Given the description of an element on the screen output the (x, y) to click on. 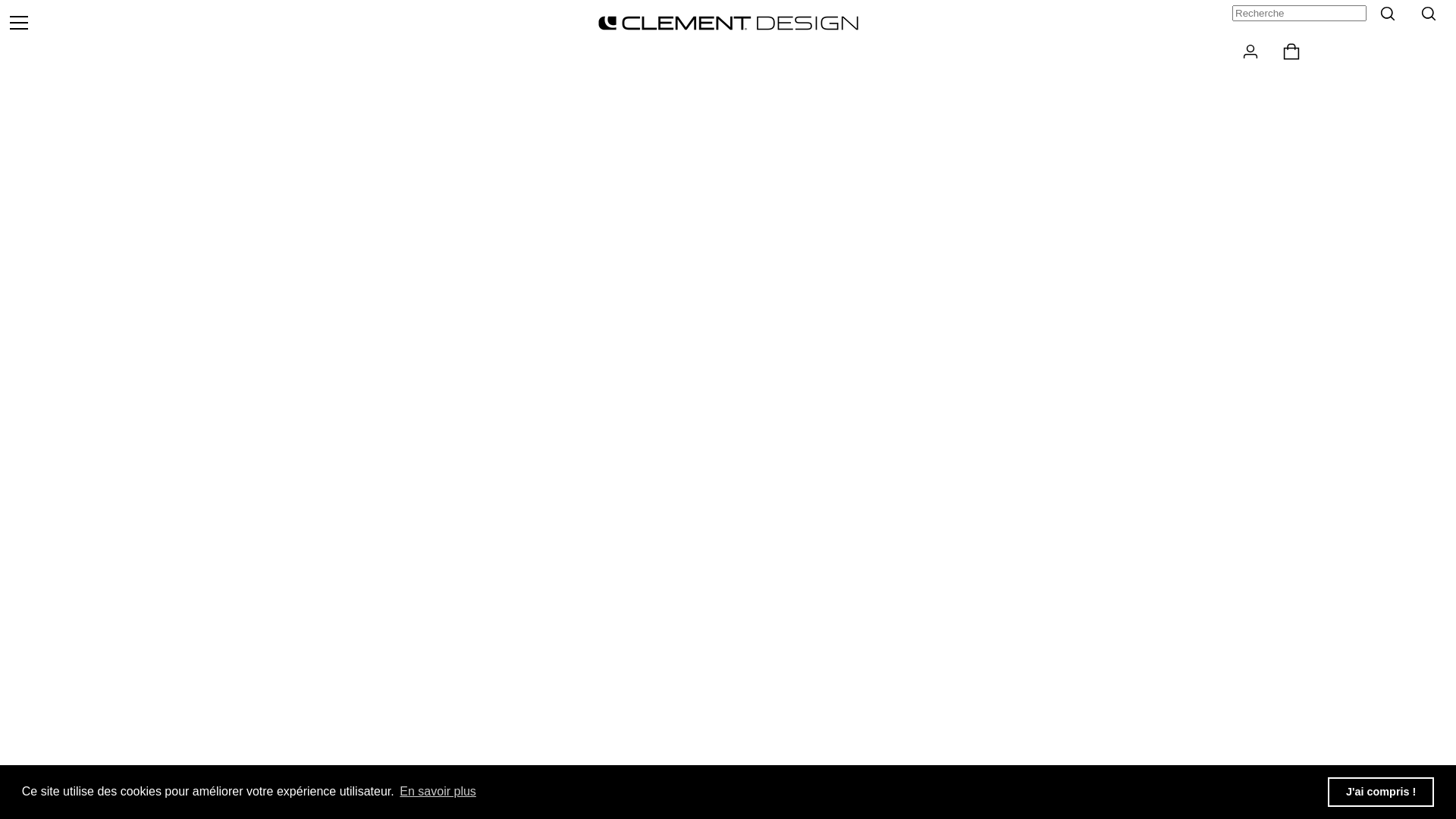
MENU Element type: text (18, 22)
SE CONNECTER Element type: text (1251, 51)
J'ai compris ! Element type: text (1380, 791)
VOIR LE PANIER Element type: text (1292, 51)
En savoir plus Element type: text (437, 791)
Passer au contenu Element type: text (0, 0)
